Given the description of an element on the screen output the (x, y) to click on. 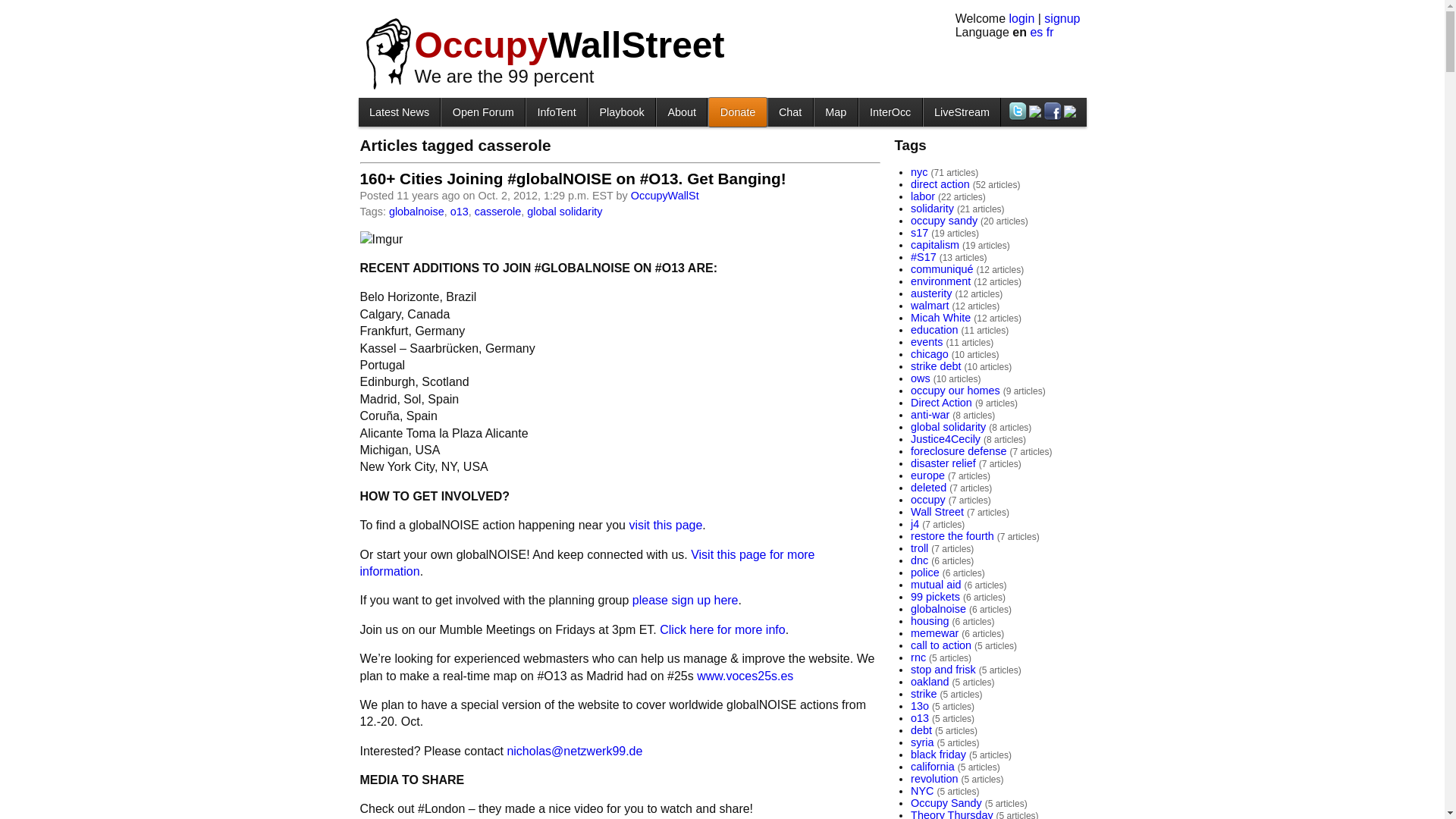
Playbook (621, 111)
OccupyWallSt (664, 195)
OccupyWallStreet (568, 45)
About (681, 111)
Open Forum (482, 111)
Online Guide to the Occupy movement (555, 111)
casserole (497, 211)
visit this page (664, 524)
Latest News (398, 111)
global solidarity (564, 211)
InfoTent (555, 111)
The End of Protest (621, 111)
Public discussion board (482, 111)
About Us (681, 111)
o13 (458, 211)
